Given the description of an element on the screen output the (x, y) to click on. 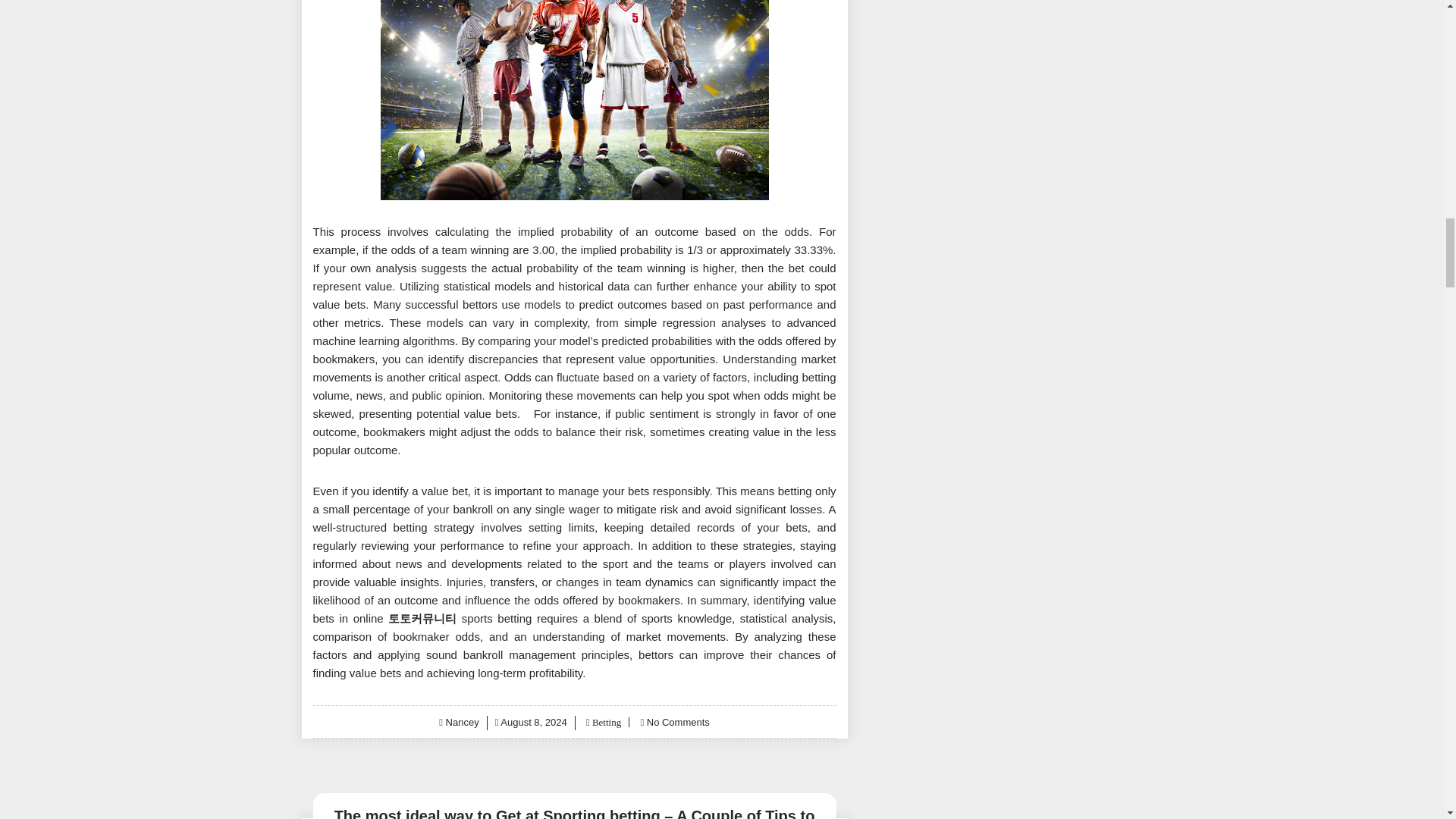
Betting (605, 722)
August 8, 2024 (533, 722)
No Comments (678, 722)
Nancey (462, 722)
